Given the description of an element on the screen output the (x, y) to click on. 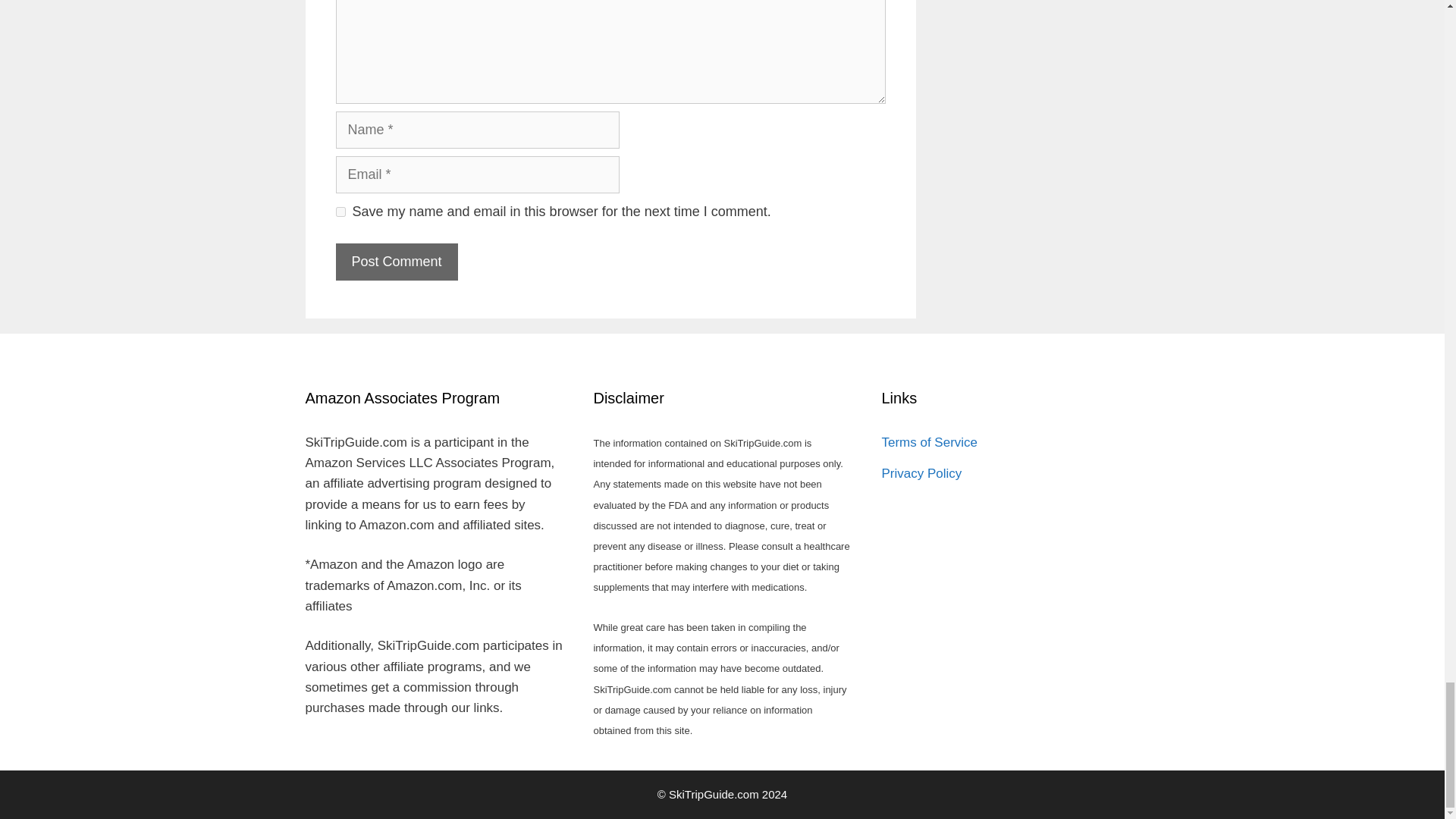
Post Comment (395, 261)
Post Comment (395, 261)
yes (339, 212)
